Given the description of an element on the screen output the (x, y) to click on. 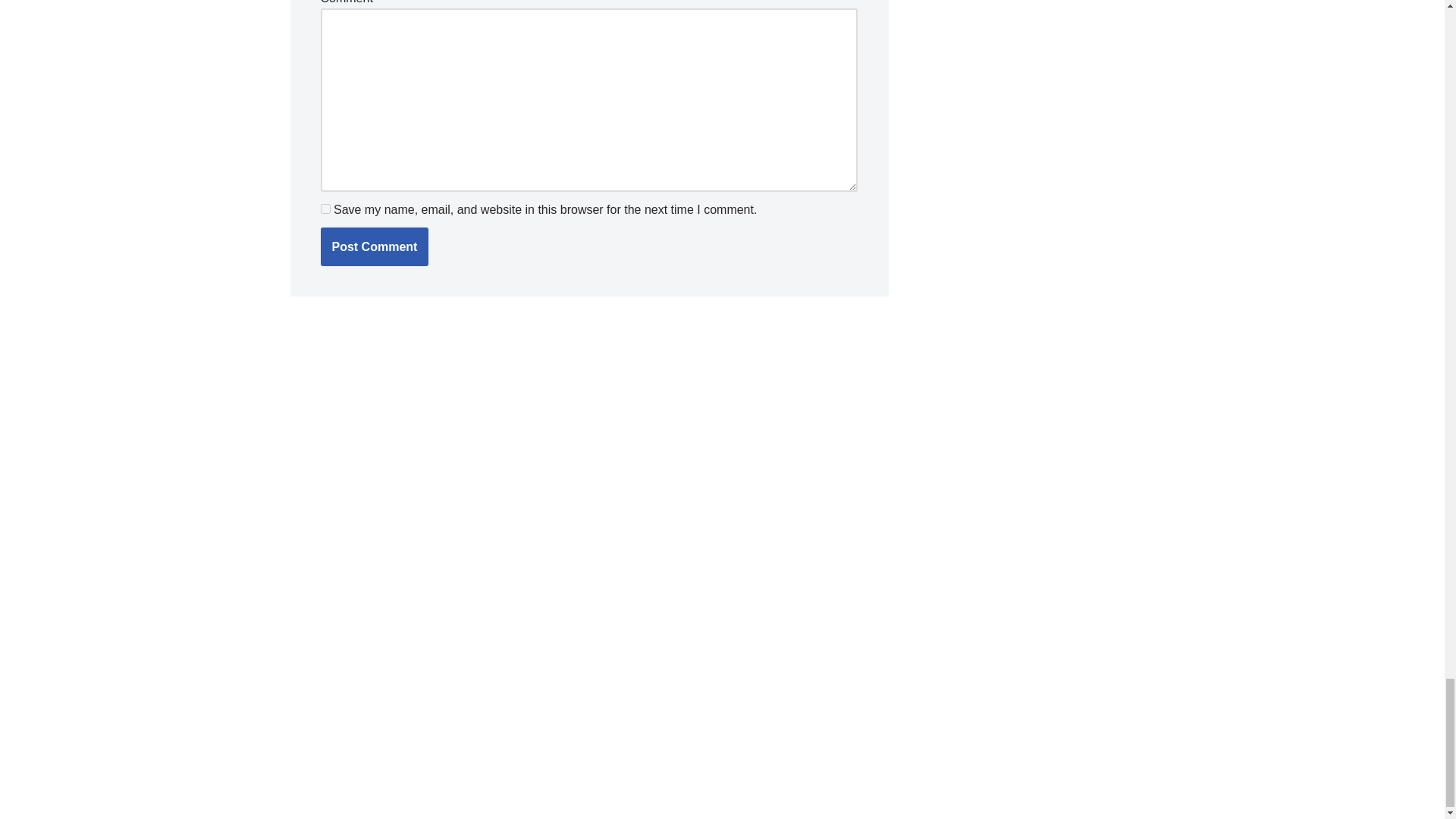
Post Comment (374, 246)
yes (325, 208)
